Given the description of an element on the screen output the (x, y) to click on. 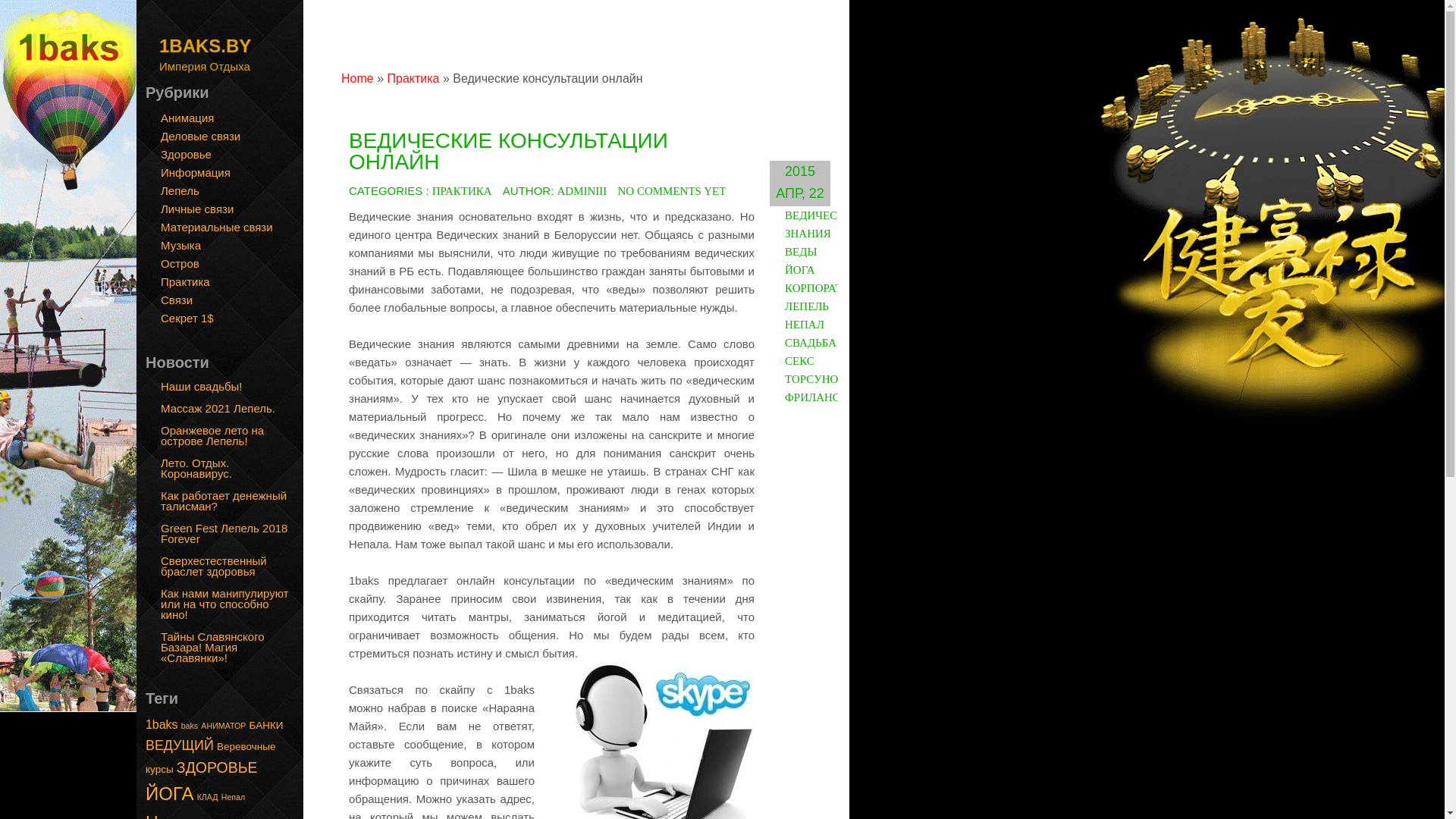
baks Element type: text (189, 725)
ADMINIII Element type: text (582, 191)
1baks Element type: text (161, 724)
NO COMMENTS YET Element type: text (672, 191)
Home Element type: text (357, 78)
1BAKS.BY Element type: text (205, 39)
